Given the description of an element on the screen output the (x, y) to click on. 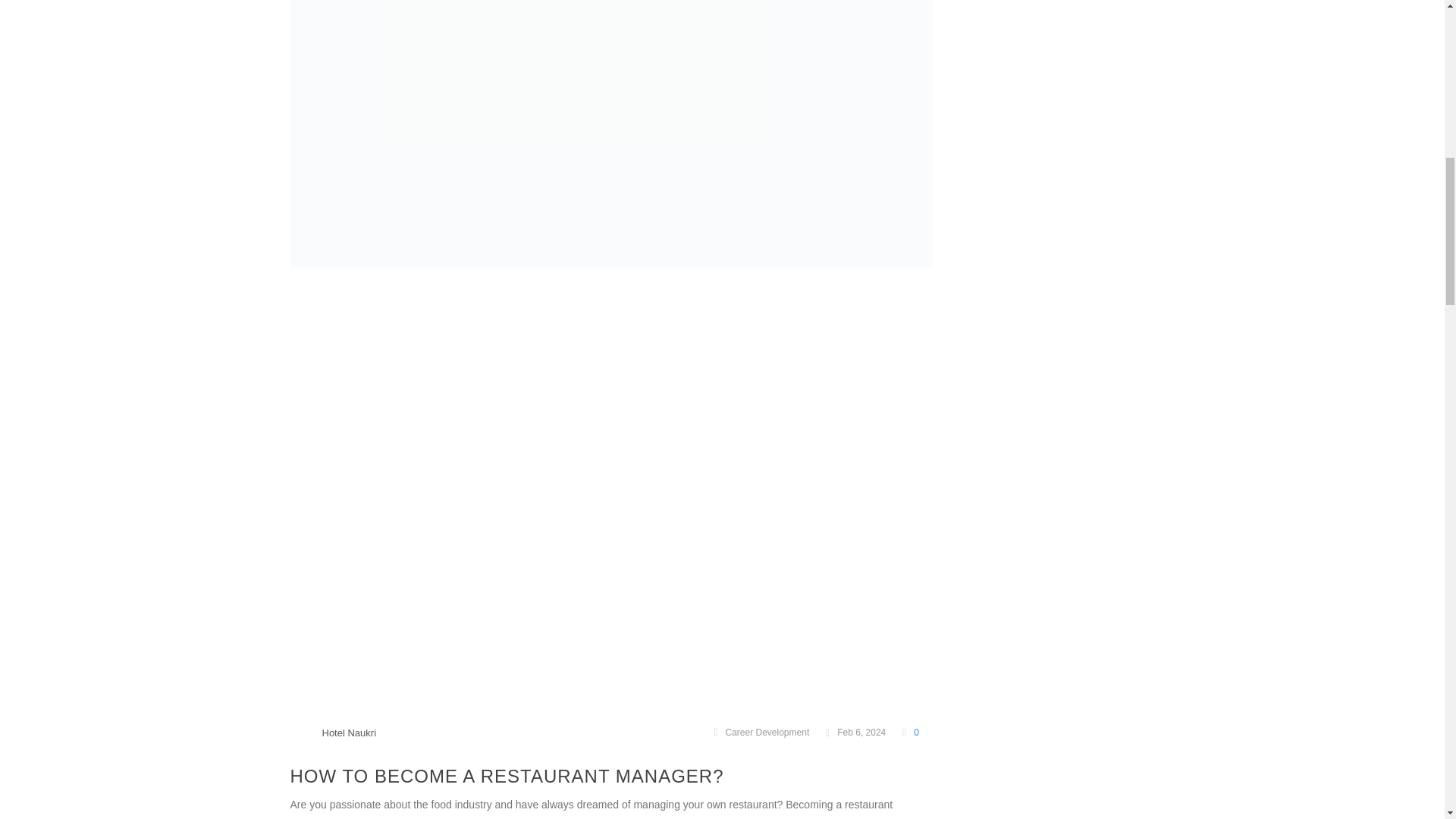
Feb 6, 2024 (855, 732)
Hotel Naukri (348, 732)
Career Development (767, 732)
